Given the description of an element on the screen output the (x, y) to click on. 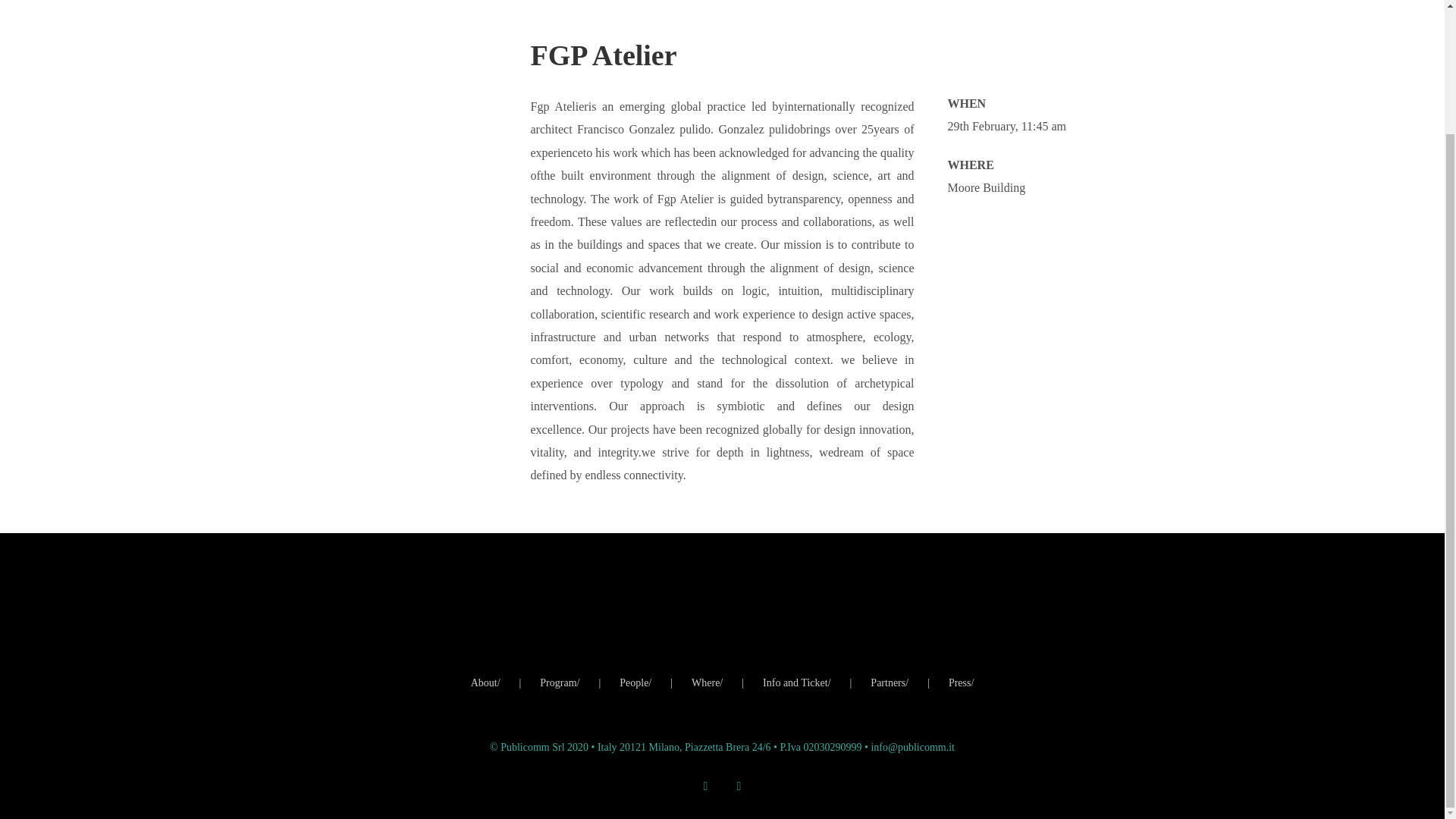
FGP-Atelier (400, 111)
Instagram (706, 786)
Facebook (739, 786)
Facebook (739, 786)
Instagram (706, 786)
